Given the description of an element on the screen output the (x, y) to click on. 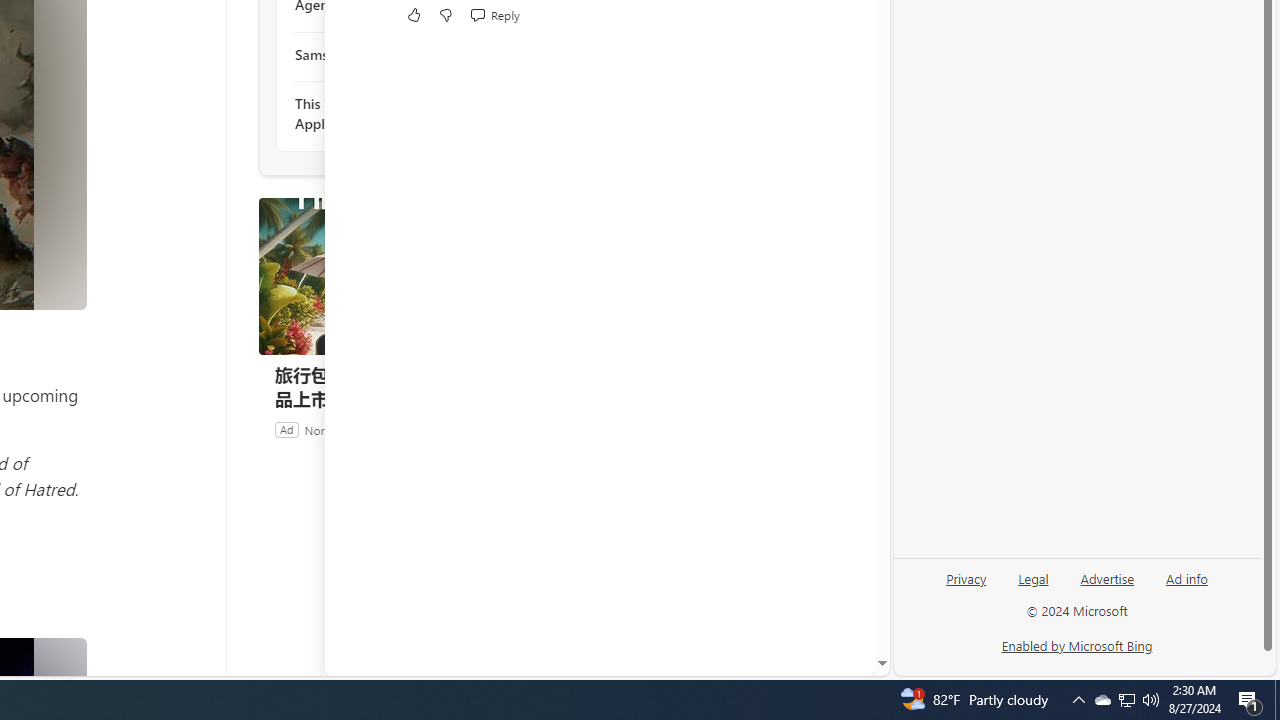
Samsung Galaxy Watch 7 Review (403, 53)
